Given the description of an element on the screen output the (x, y) to click on. 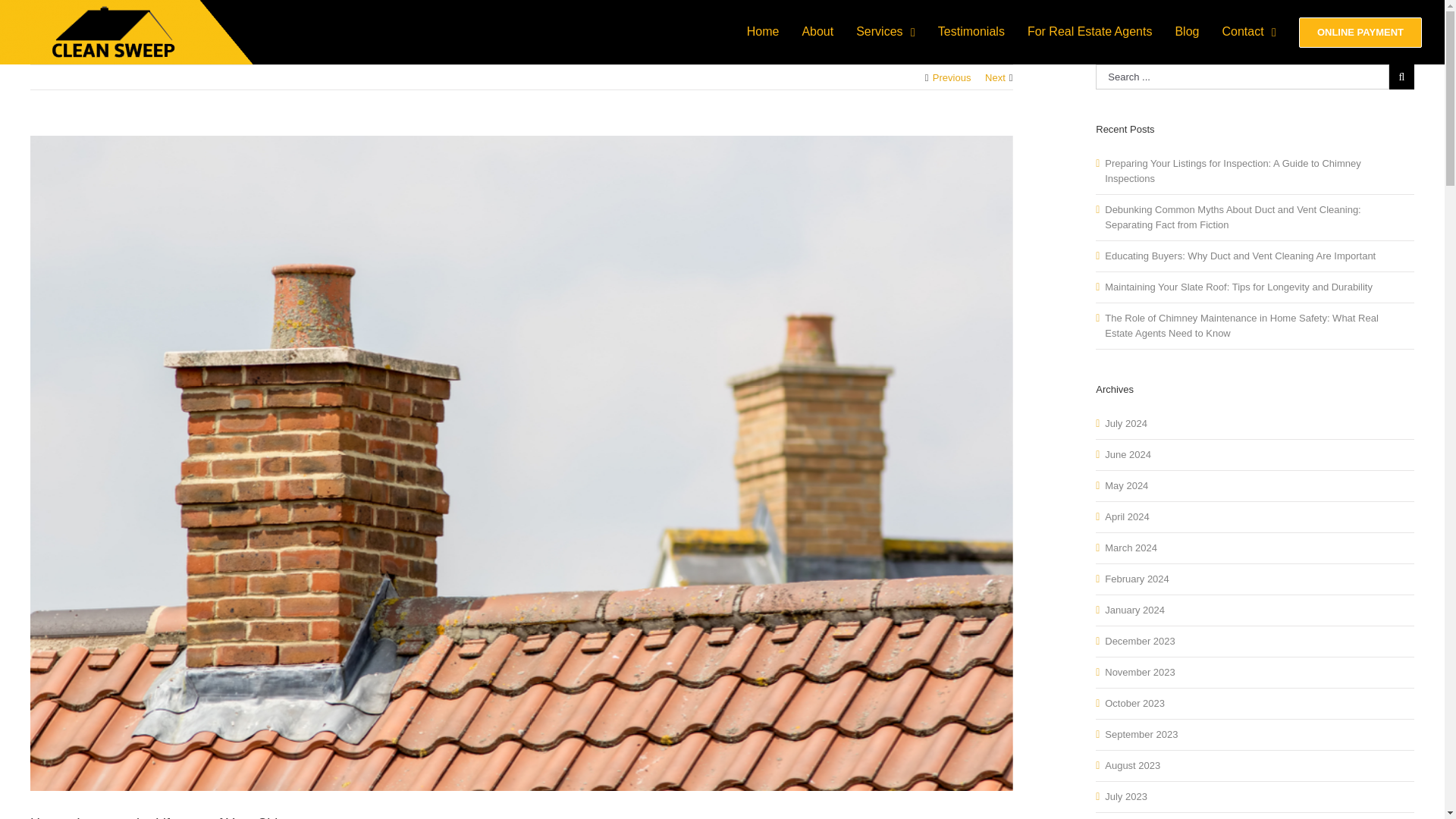
Services (885, 31)
For Real Estate Agents (1090, 31)
ONLINE PAYMENT (1360, 31)
Previous (952, 77)
Testimonials (970, 31)
